Given the description of an element on the screen output the (x, y) to click on. 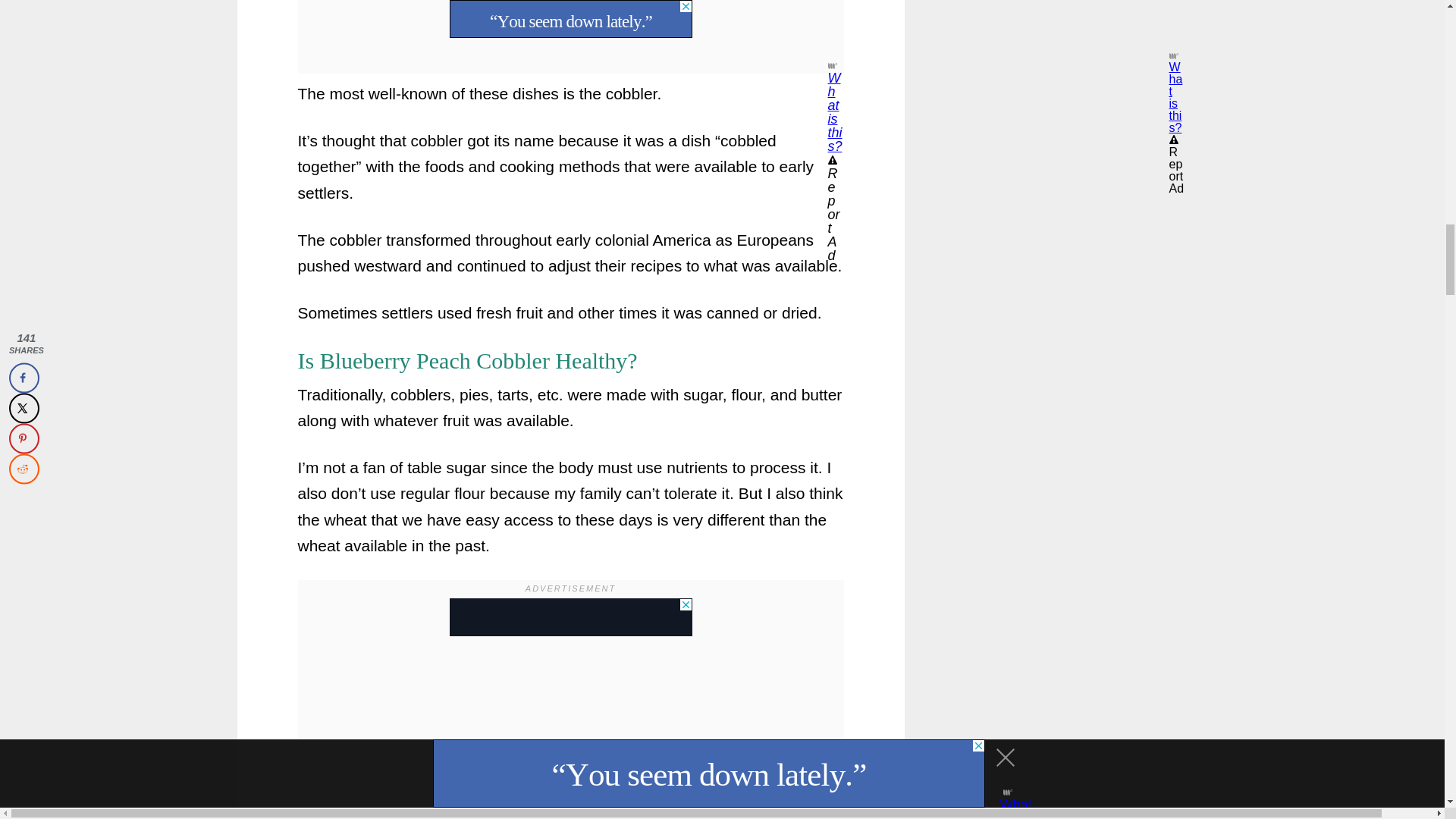
3rd party ad content (1070, 24)
3rd party ad content (569, 617)
